Given the description of an element on the screen output the (x, y) to click on. 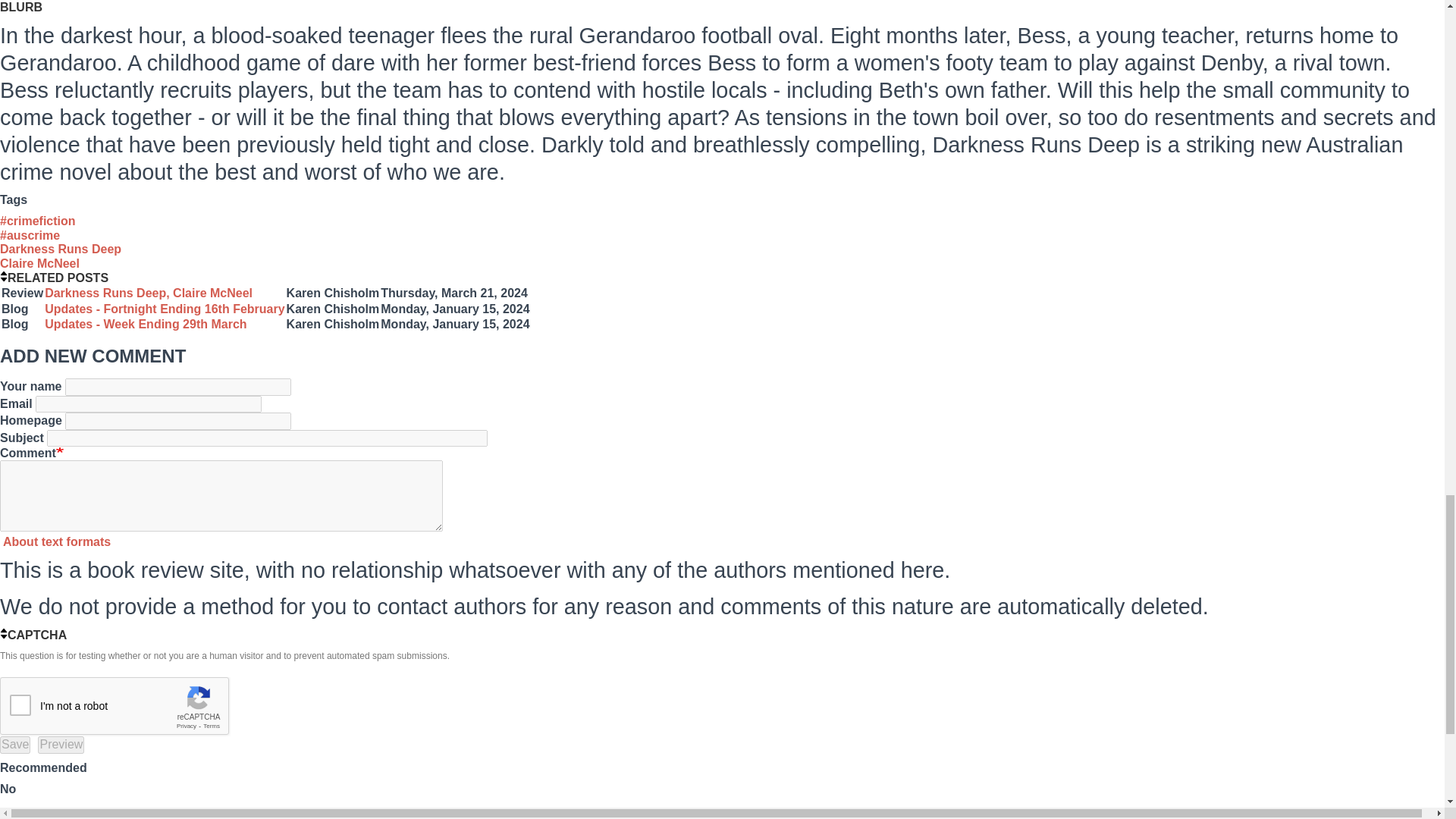
Darkness Runs Deep, Claire McNeel (148, 292)
Darkness Runs Deep (60, 248)
Updates - Fortnight Ending 16th February (164, 308)
Opens in new window (55, 541)
reCAPTCHA (115, 706)
Updates - Week Ending 29th March (145, 323)
Claire McNeel (40, 263)
About text formats (55, 541)
Save (15, 744)
Preview (60, 744)
